Given the description of an element on the screen output the (x, y) to click on. 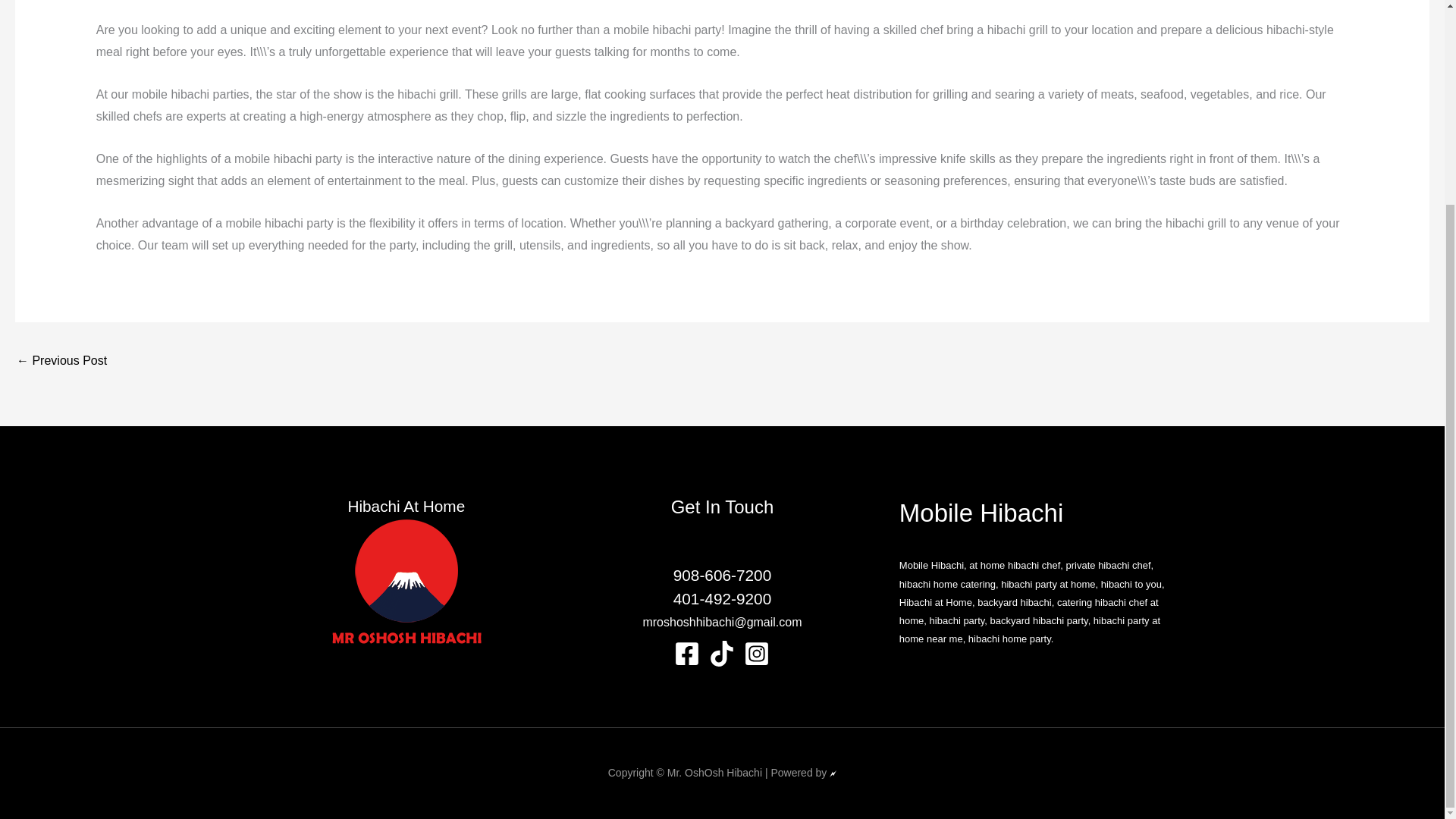
908-606-7200 (721, 574)
401-492-9200 (721, 598)
